Given the description of an element on the screen output the (x, y) to click on. 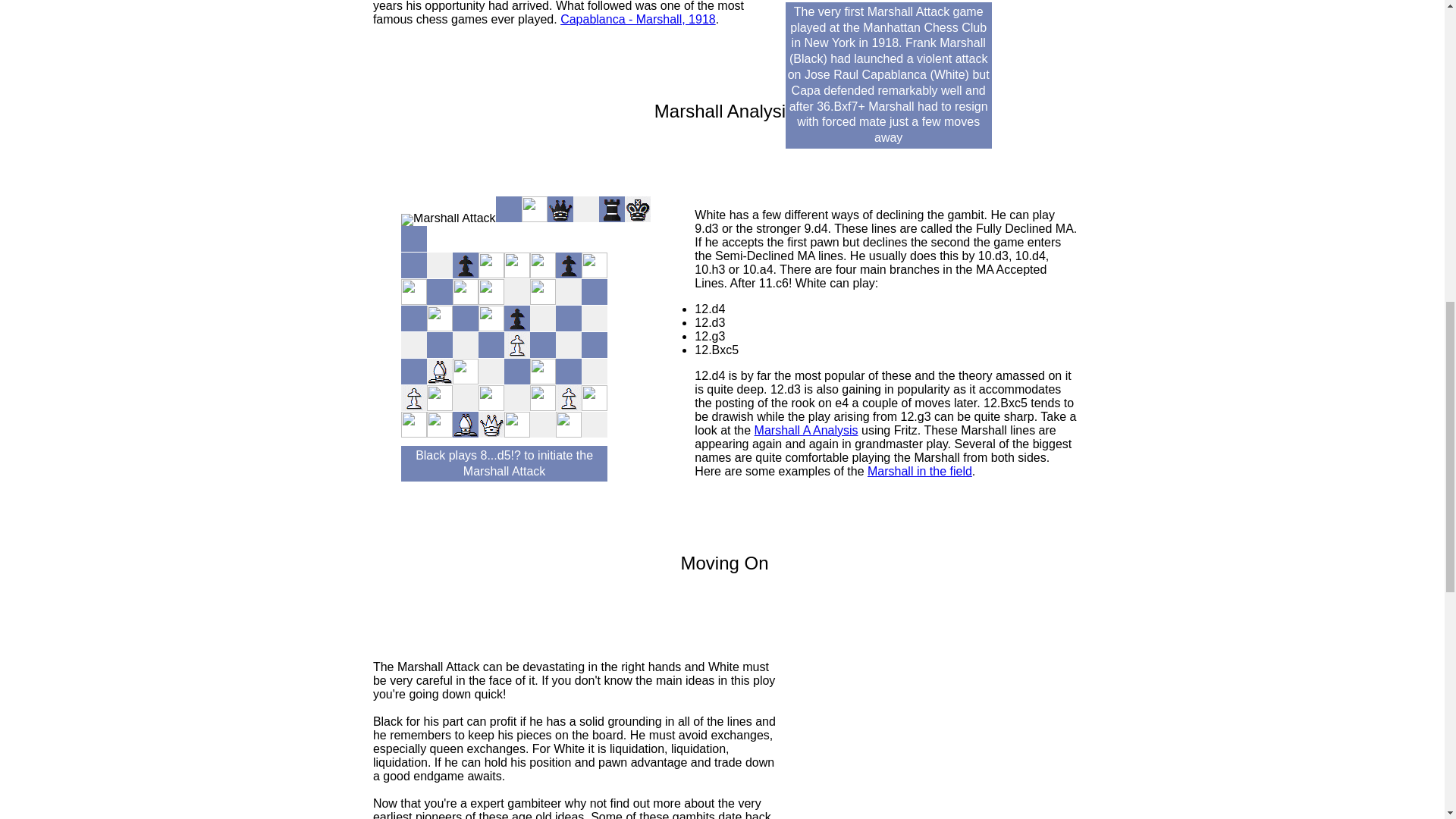
Marshall A Analysis (806, 430)
Advertisement (942, 757)
Capablanca - Marshall, 1918 (638, 19)
Marshall in the field (919, 471)
Moving On (723, 562)
Marshall Analysis (723, 110)
